Given the description of an element on the screen output the (x, y) to click on. 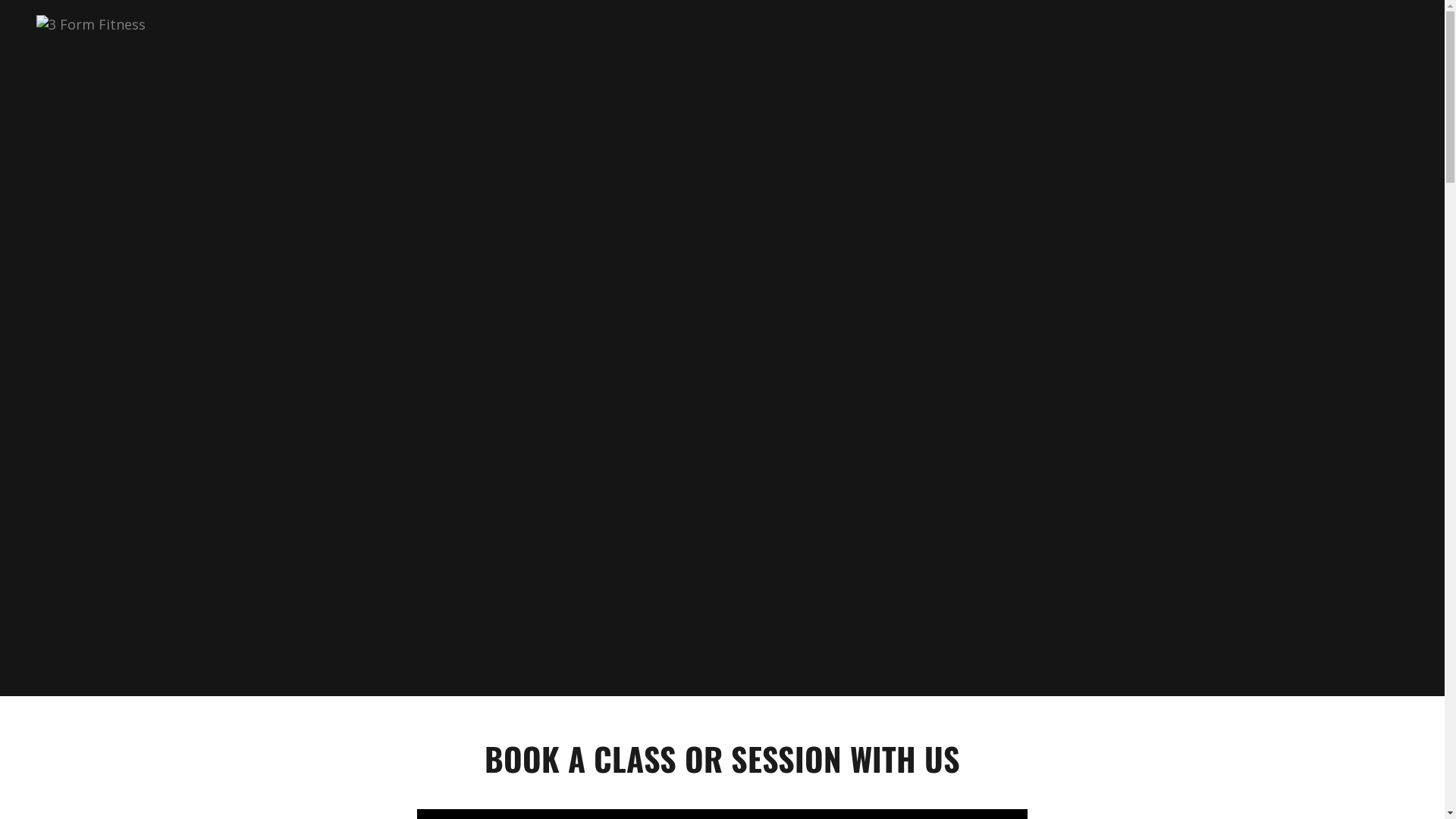
3 Form Fitness Element type: hover (90, 21)
